Given the description of an element on the screen output the (x, y) to click on. 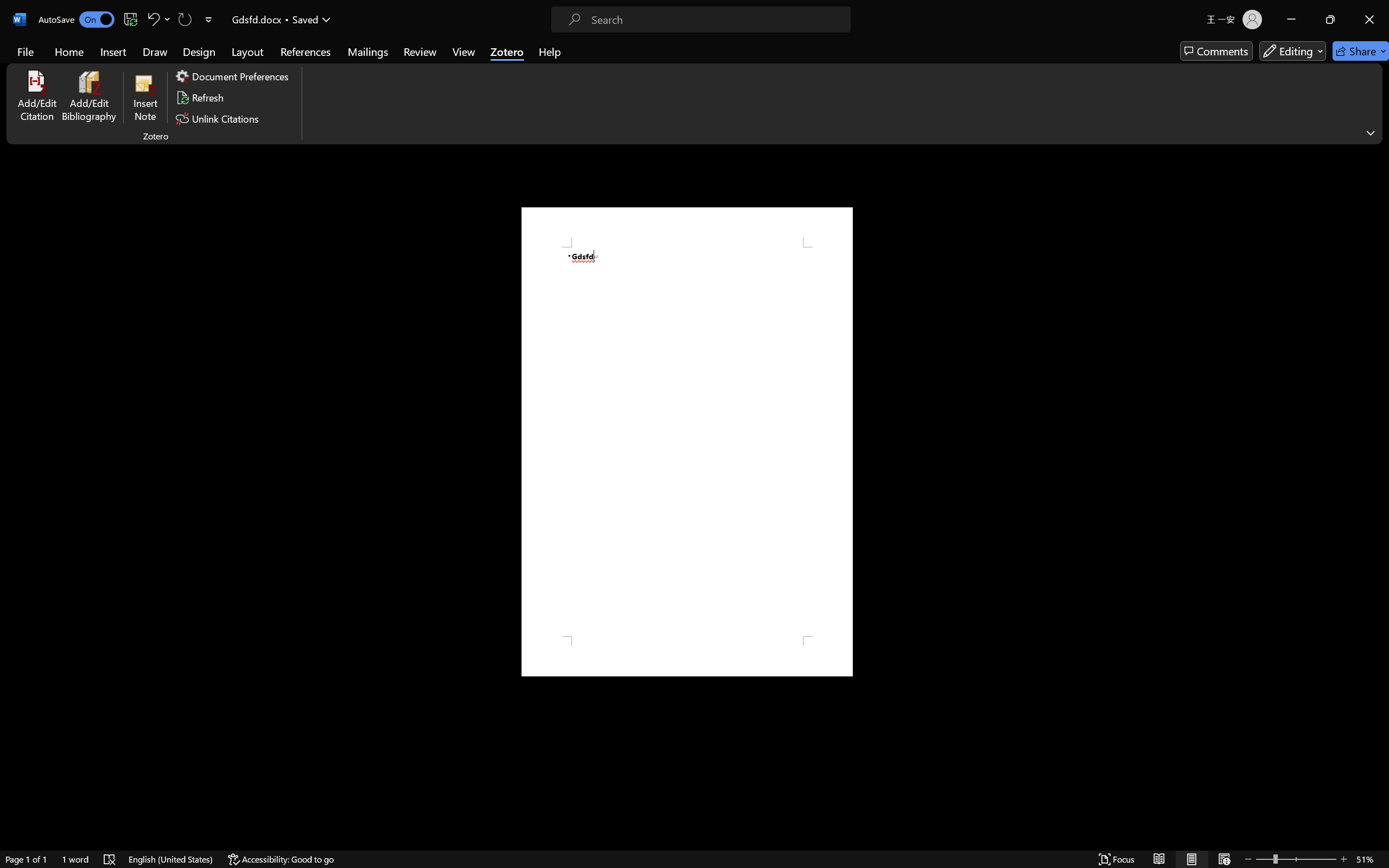
Page 1 content (686, 441)
